Given the description of an element on the screen output the (x, y) to click on. 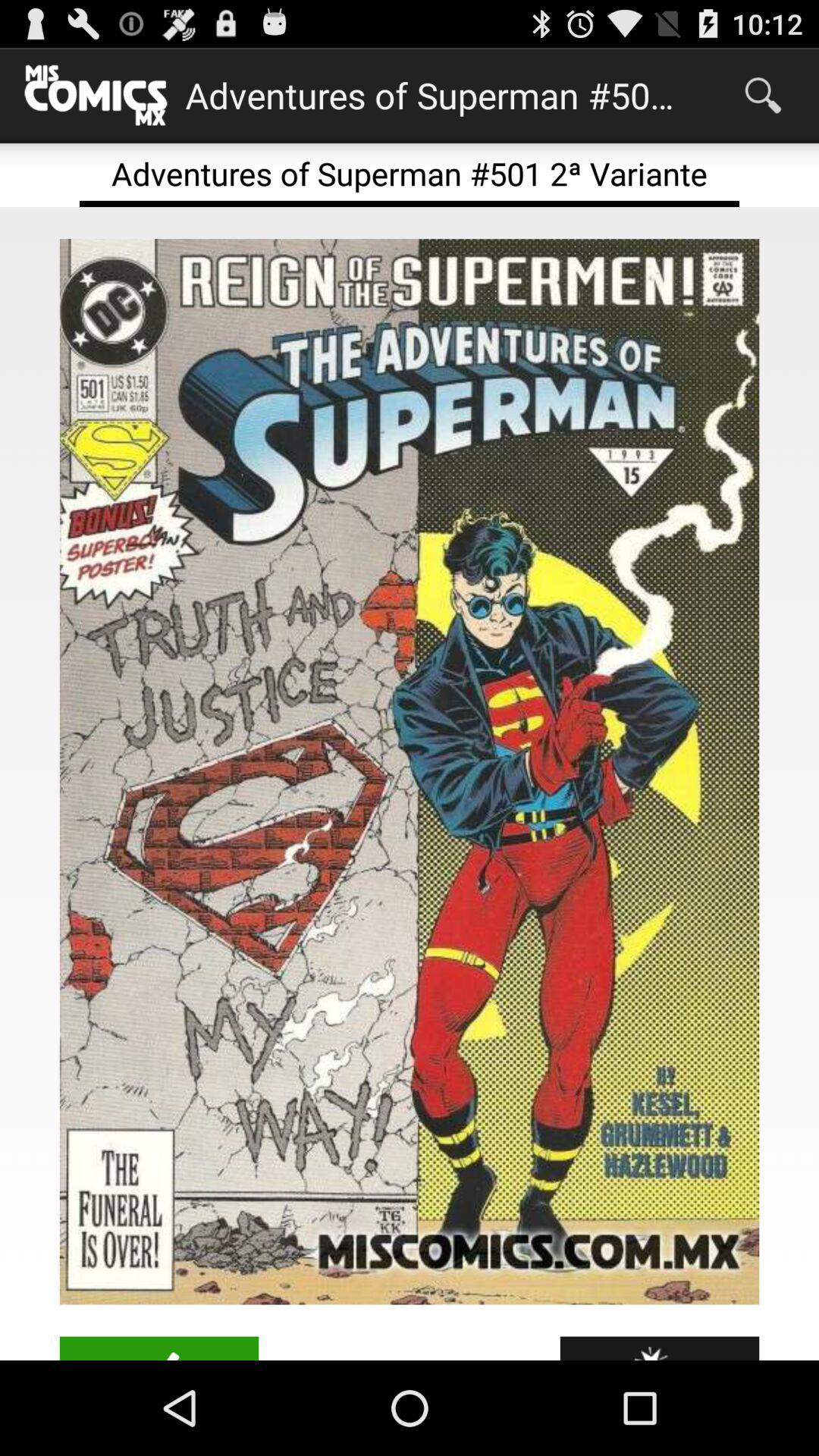
turn on icon at the top right corner (763, 95)
